Given the description of an element on the screen output the (x, y) to click on. 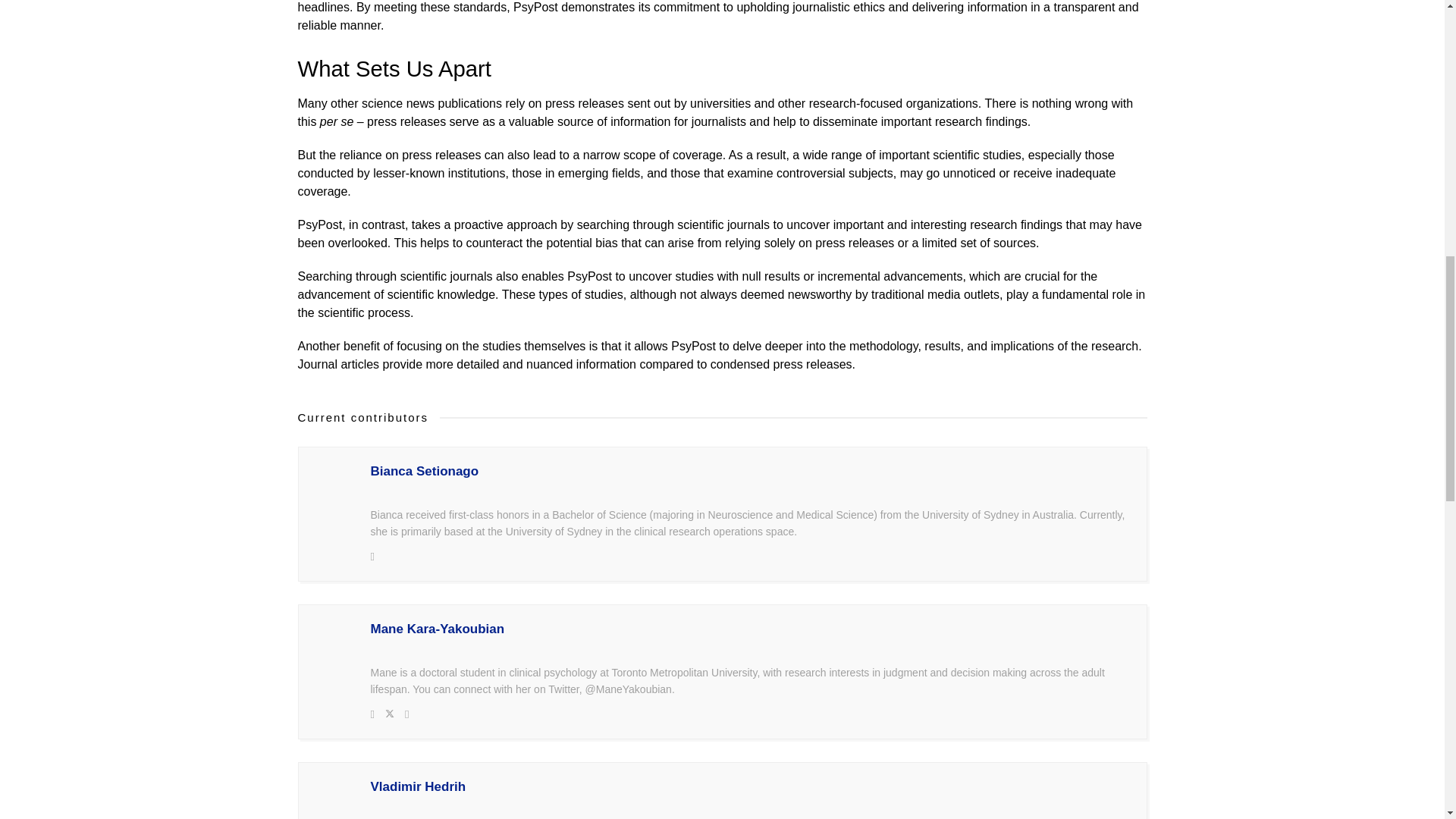
Vladimir Hedrih (750, 787)
Mane Kara-Yakoubian (750, 628)
Bianca Setionago (750, 471)
